Given the description of an element on the screen output the (x, y) to click on. 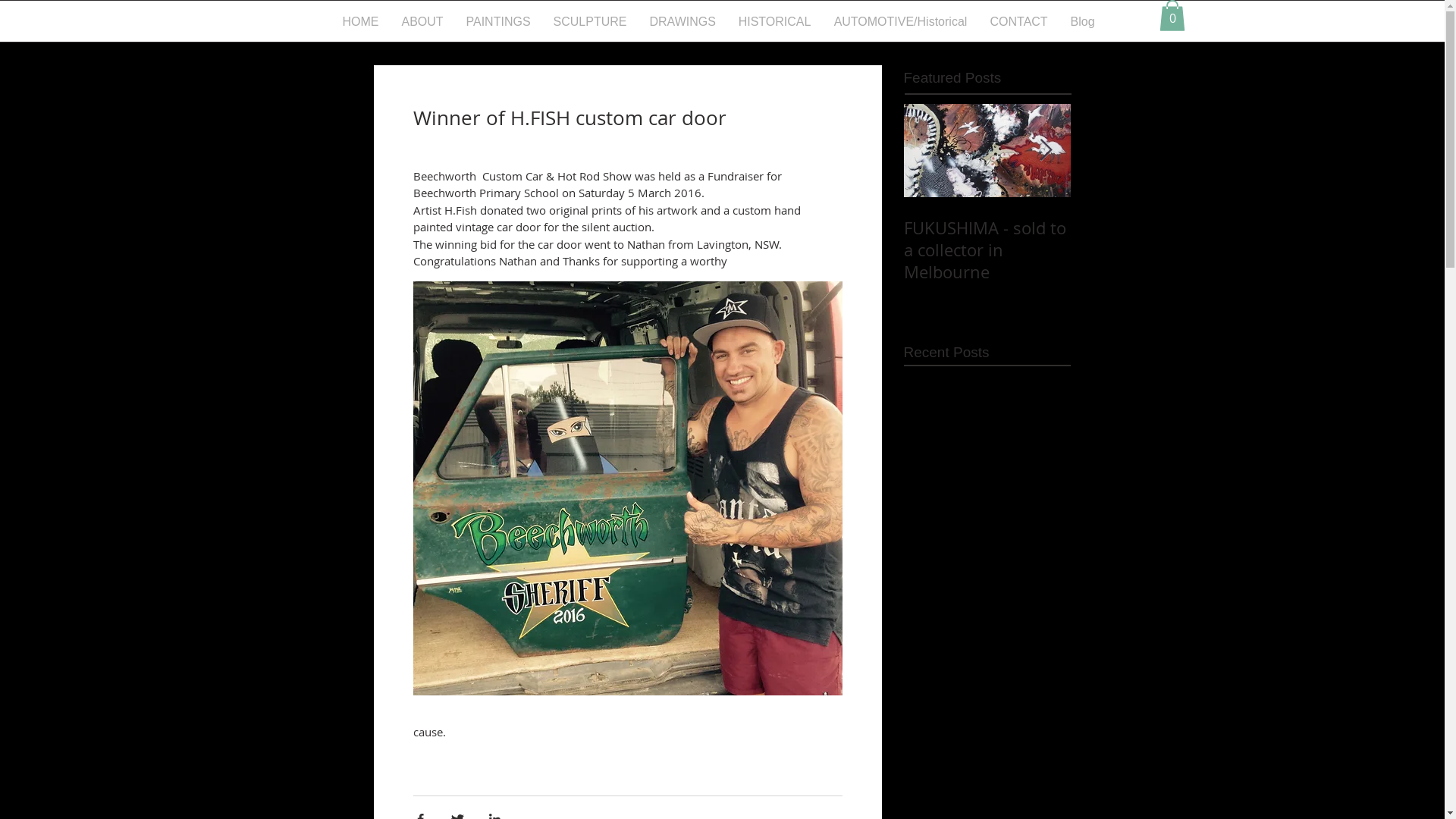
AUTOMOTIVE/Historical Element type: text (900, 21)
ABOUT Element type: text (421, 21)
HOME Element type: text (359, 21)
FUKUSHIMA - sold to a collector in Melbourne Element type: text (986, 249)
SCULPTURE Element type: text (589, 21)
CONTACT Element type: text (1018, 21)
HISTORICAL Element type: text (774, 21)
ART EXHIBITION IN BEECHWORTH Element type: text (1153, 238)
PAINTINGS Element type: text (498, 21)
Blog Element type: text (1081, 21)
DRAWINGS Element type: text (682, 21)
0 Element type: text (1171, 15)
